Given the description of an element on the screen output the (x, y) to click on. 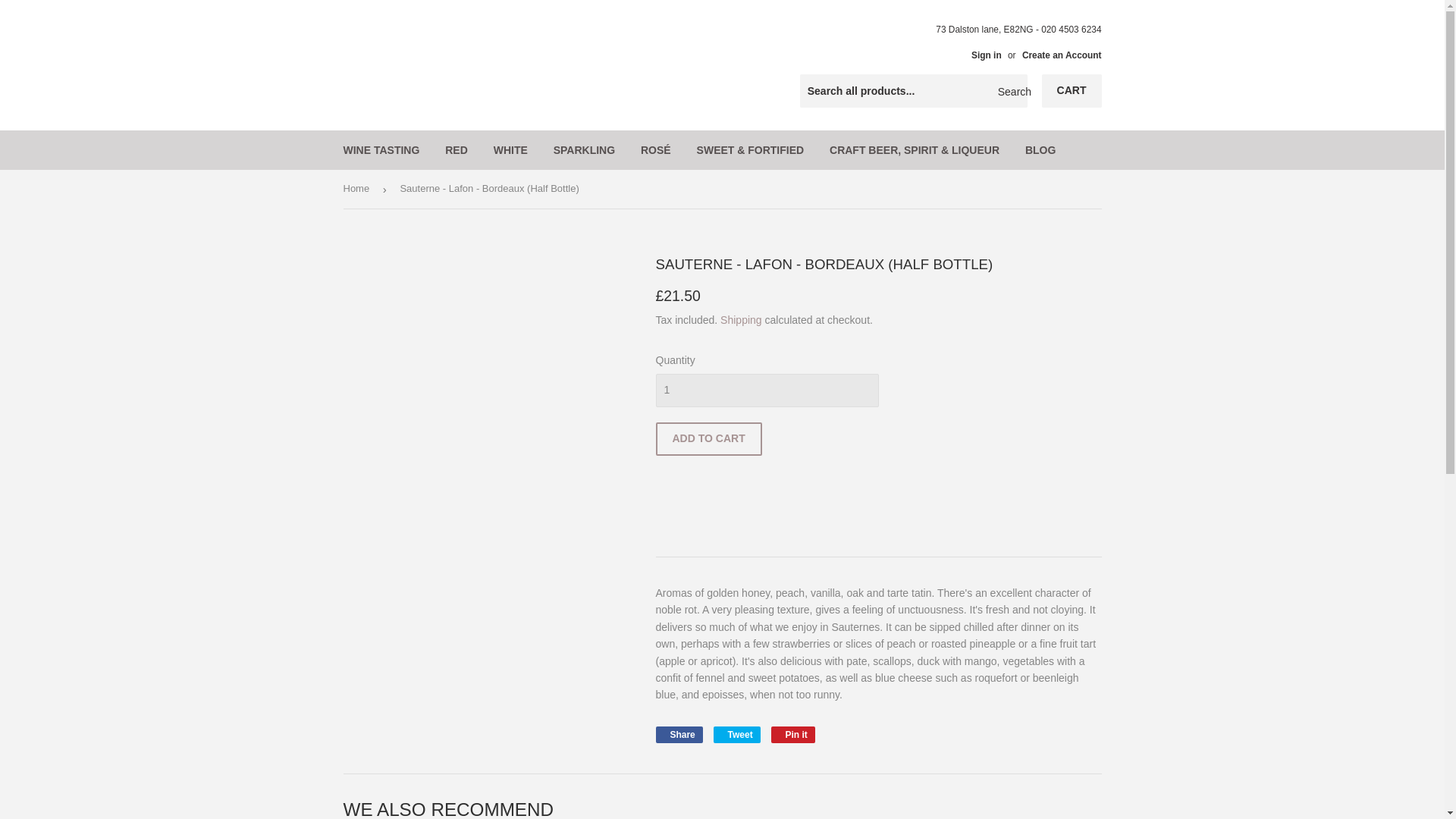
WINE TASTING (380, 149)
Tweet on Twitter (736, 734)
1 (793, 734)
Create an Account (766, 390)
Share on Facebook (1062, 54)
RED (678, 734)
BLOG (456, 149)
Pin on Pinterest (1040, 149)
ADD TO CART (793, 734)
